Given the description of an element on the screen output the (x, y) to click on. 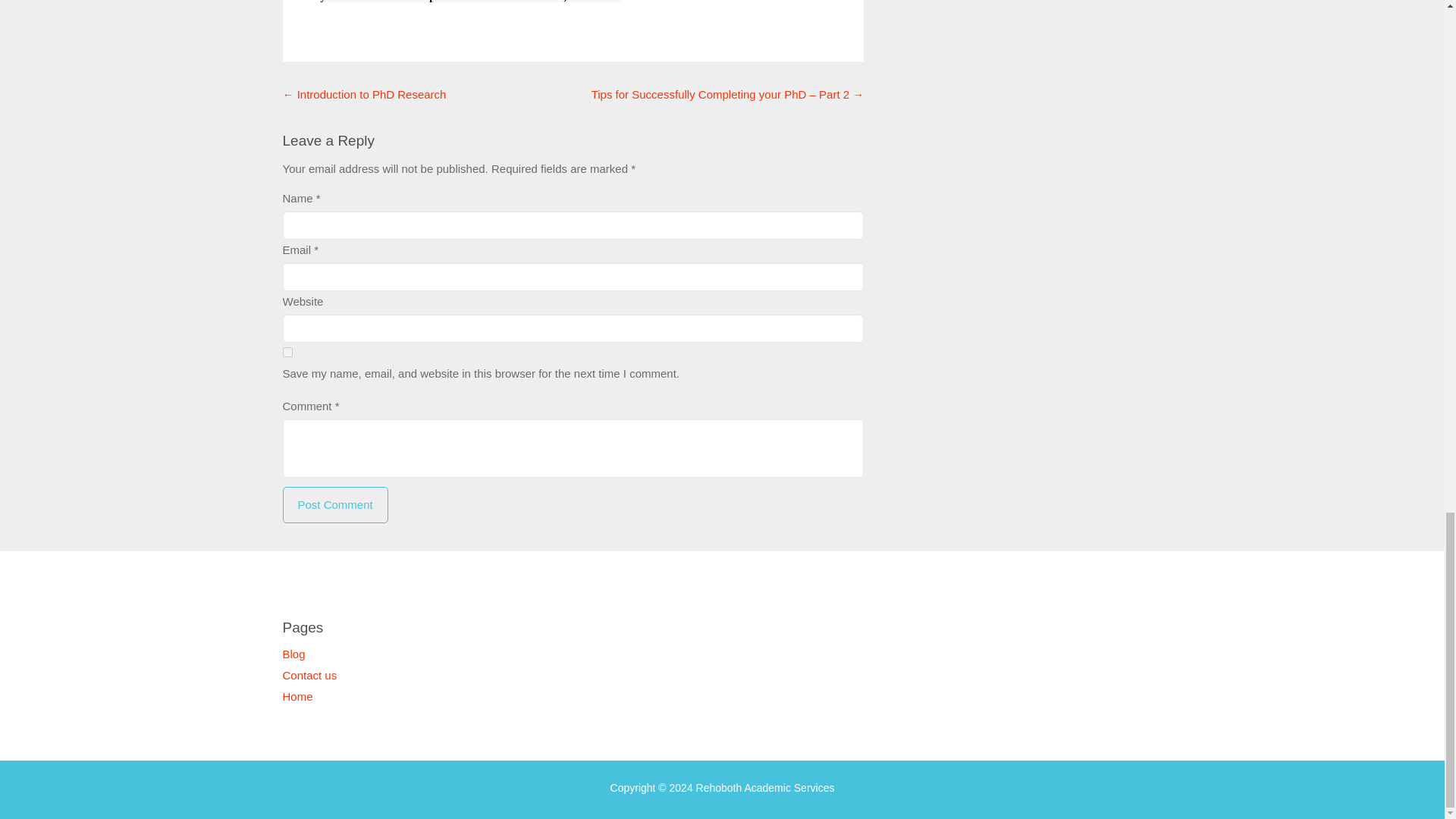
Home (297, 696)
Blog (293, 653)
Post Comment (334, 504)
Post Comment (334, 504)
Rehoboth Academic Services (764, 787)
yes (287, 352)
contact us  (484, 1)
Contact us (309, 675)
